Given the description of an element on the screen output the (x, y) to click on. 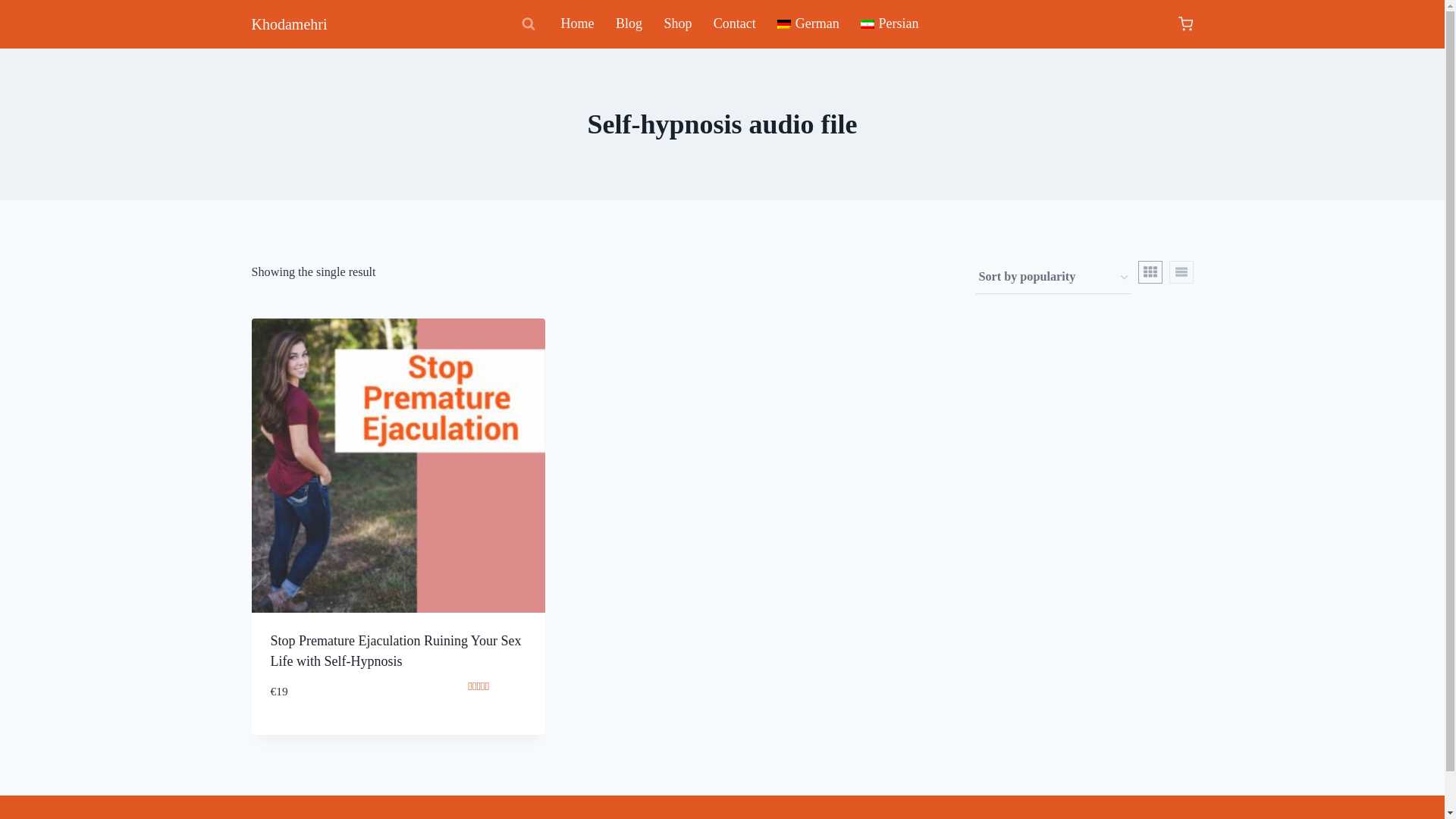
List View (1181, 272)
German (808, 24)
Grid View (1149, 272)
Blog (628, 24)
Contact (735, 24)
German (808, 24)
Khodamehri (289, 24)
Home (577, 24)
Persian (890, 24)
